Given the description of an element on the screen output the (x, y) to click on. 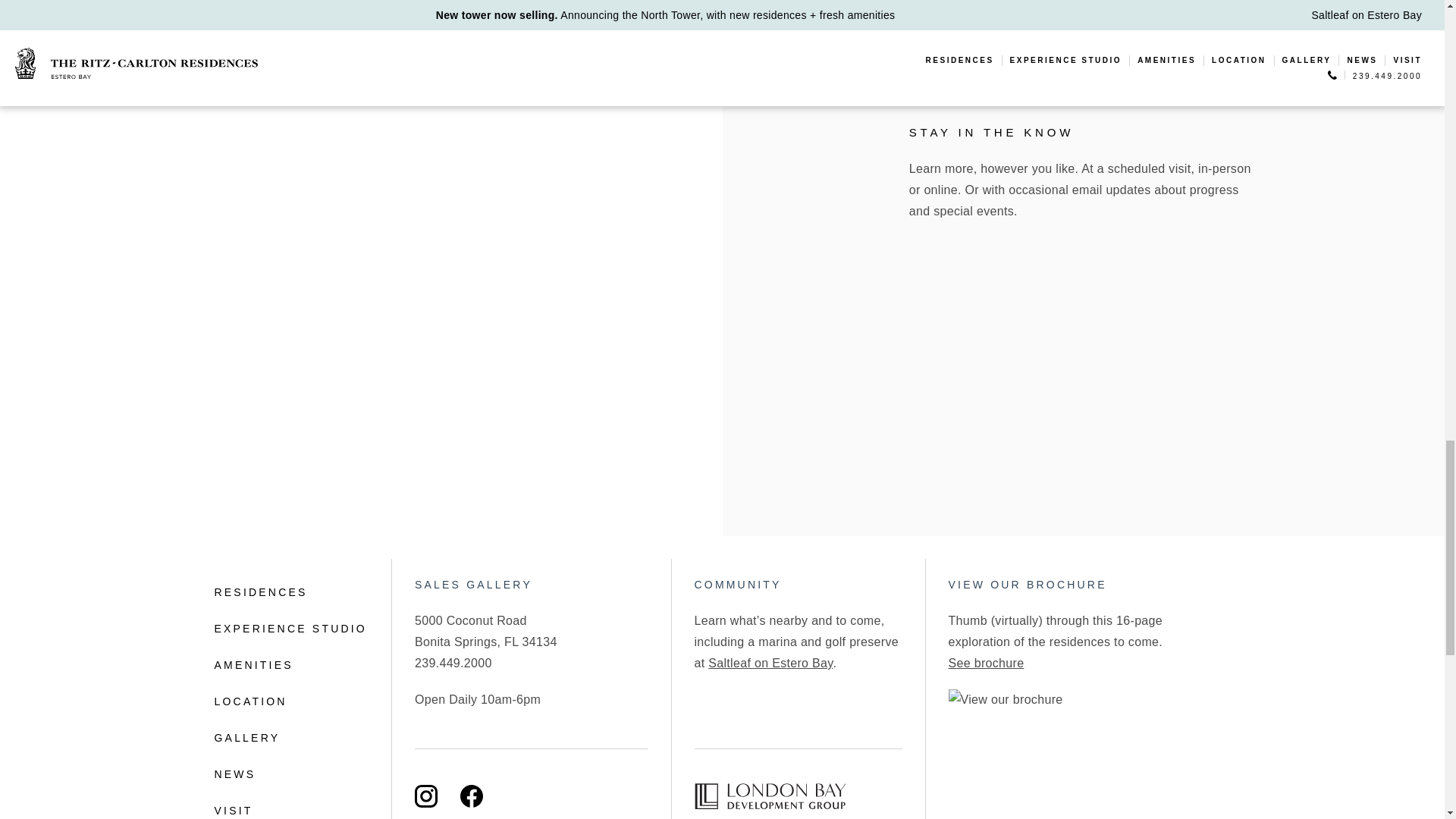
LOCATION (290, 701)
AMENITIES (290, 665)
GALLERY (290, 737)
RESIDENCES (290, 592)
EXPERIENCE STUDIO (290, 628)
